Given the description of an element on the screen output the (x, y) to click on. 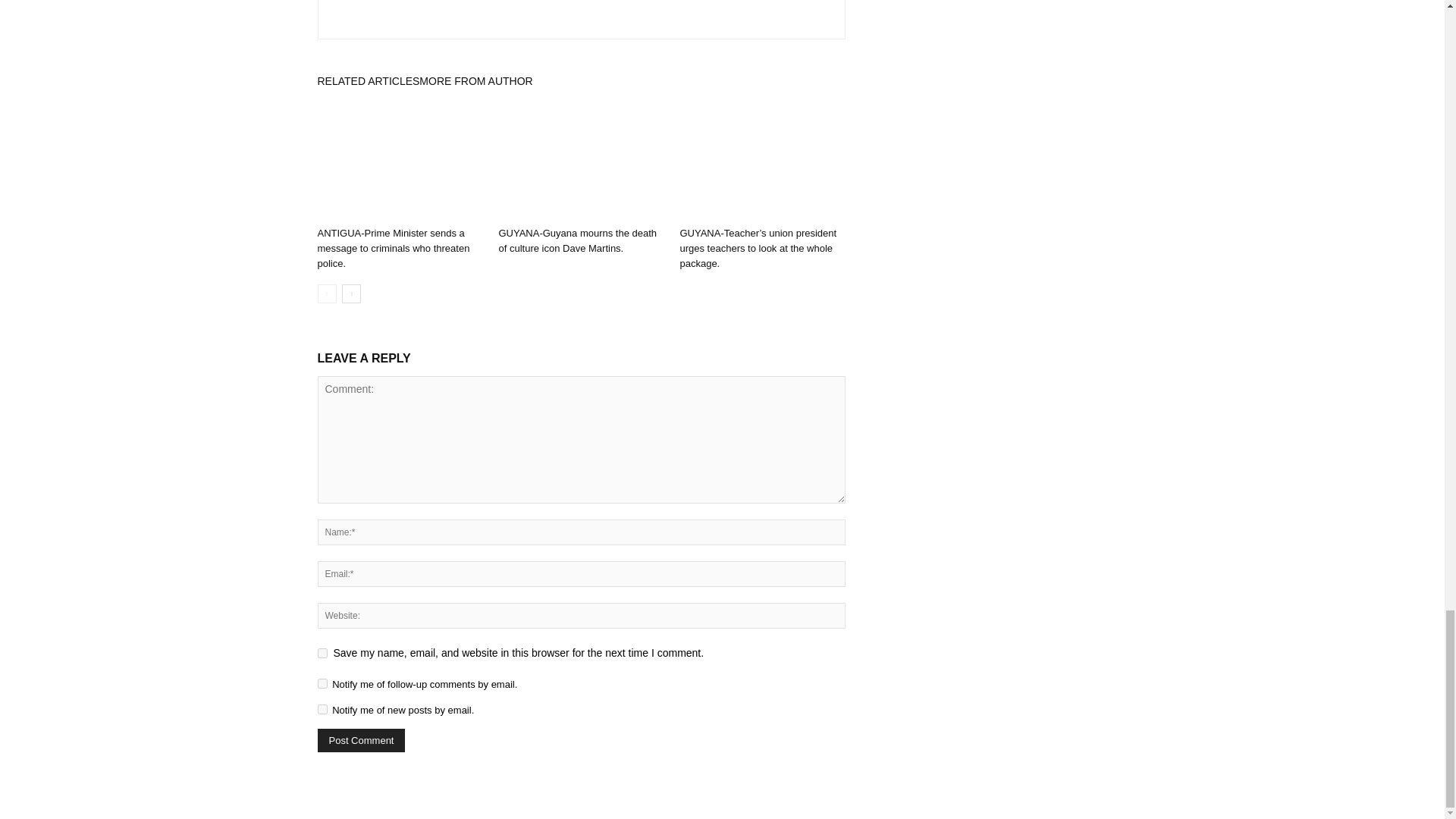
Post Comment (360, 740)
yes (321, 653)
subscribe (321, 709)
subscribe (321, 683)
